Given the description of an element on the screen output the (x, y) to click on. 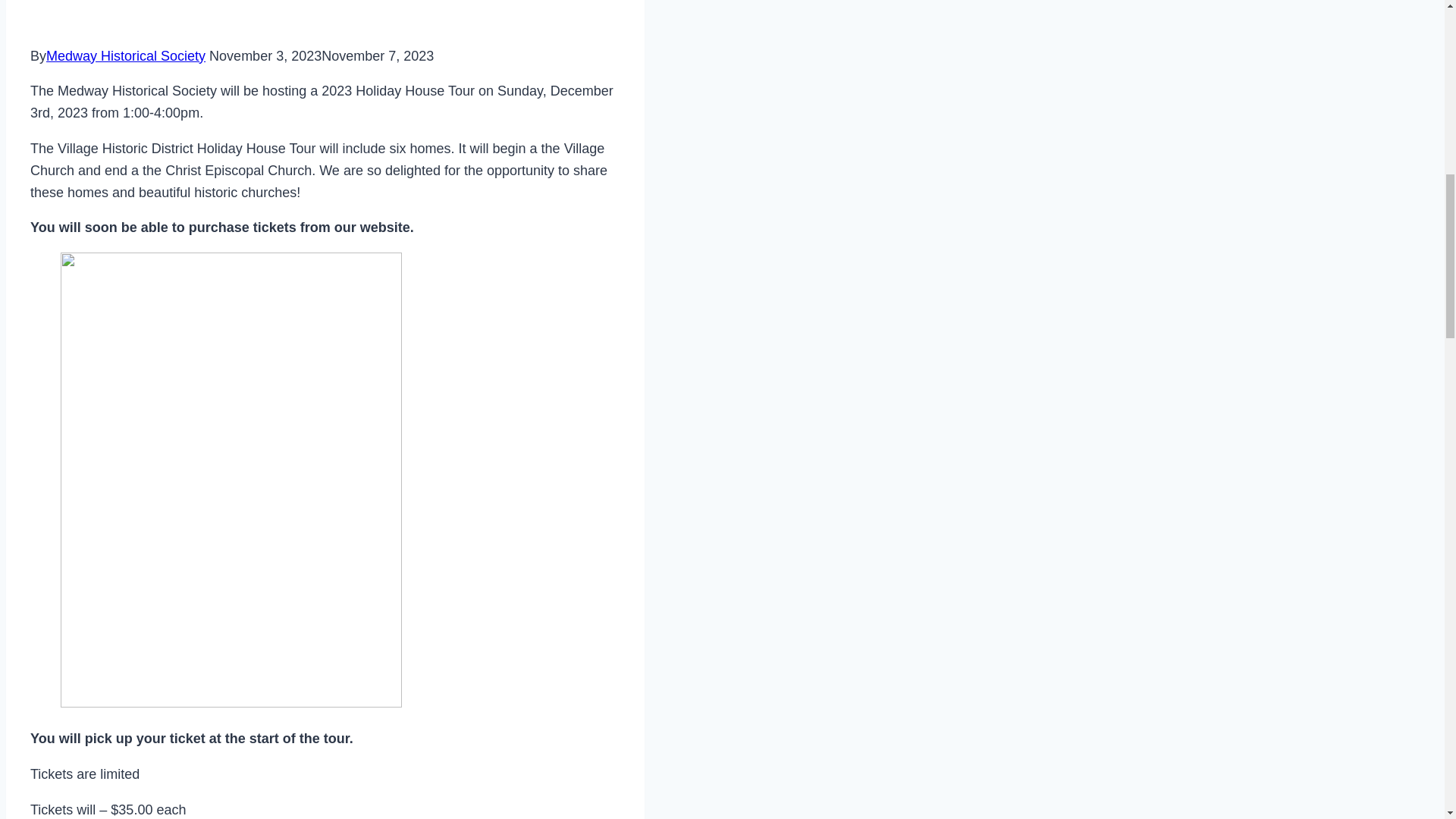
Medway Historical Society (125, 55)
